Given the description of an element on the screen output the (x, y) to click on. 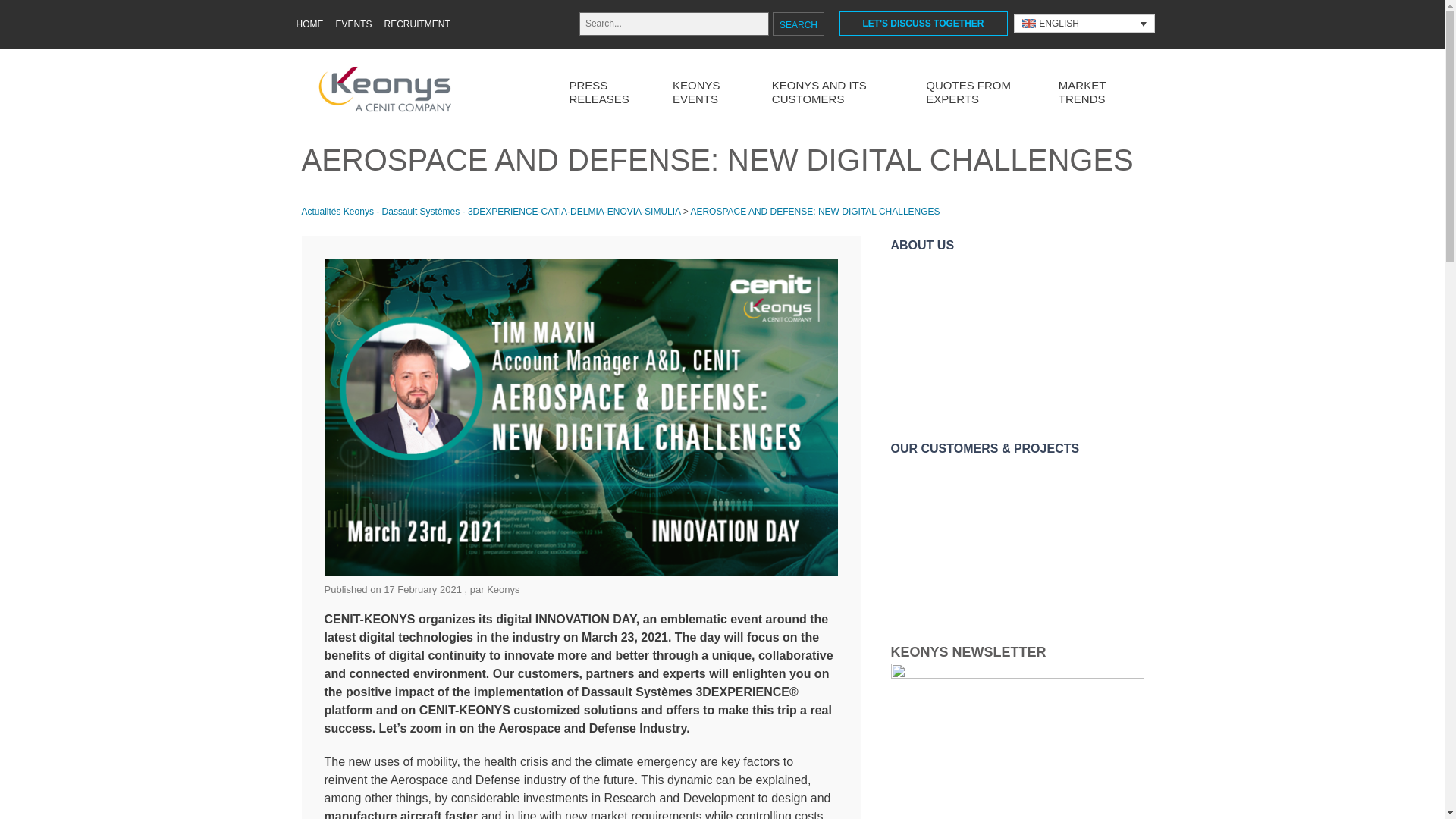
LET'S DISCUSS TOGETHER (922, 23)
LET'S DISCUSS TOGETHER (922, 23)
HOME (309, 23)
Search (798, 24)
Search (798, 24)
MARKET TRENDS (1093, 93)
ENGLISH (1083, 23)
Search for: (673, 24)
KEONYS AND ITS CUSTOMERS (833, 93)
RECRUITMENT (417, 23)
EVENTS (353, 23)
AEROSPACE AND DEFENSE: NEW DIGITAL CHALLENGES (814, 211)
KEONYS, Your partner to sustainable innovation (1015, 337)
PRESS RELEASES (605, 93)
QUOTES FROM EXPERTS (976, 93)
